Given the description of an element on the screen output the (x, y) to click on. 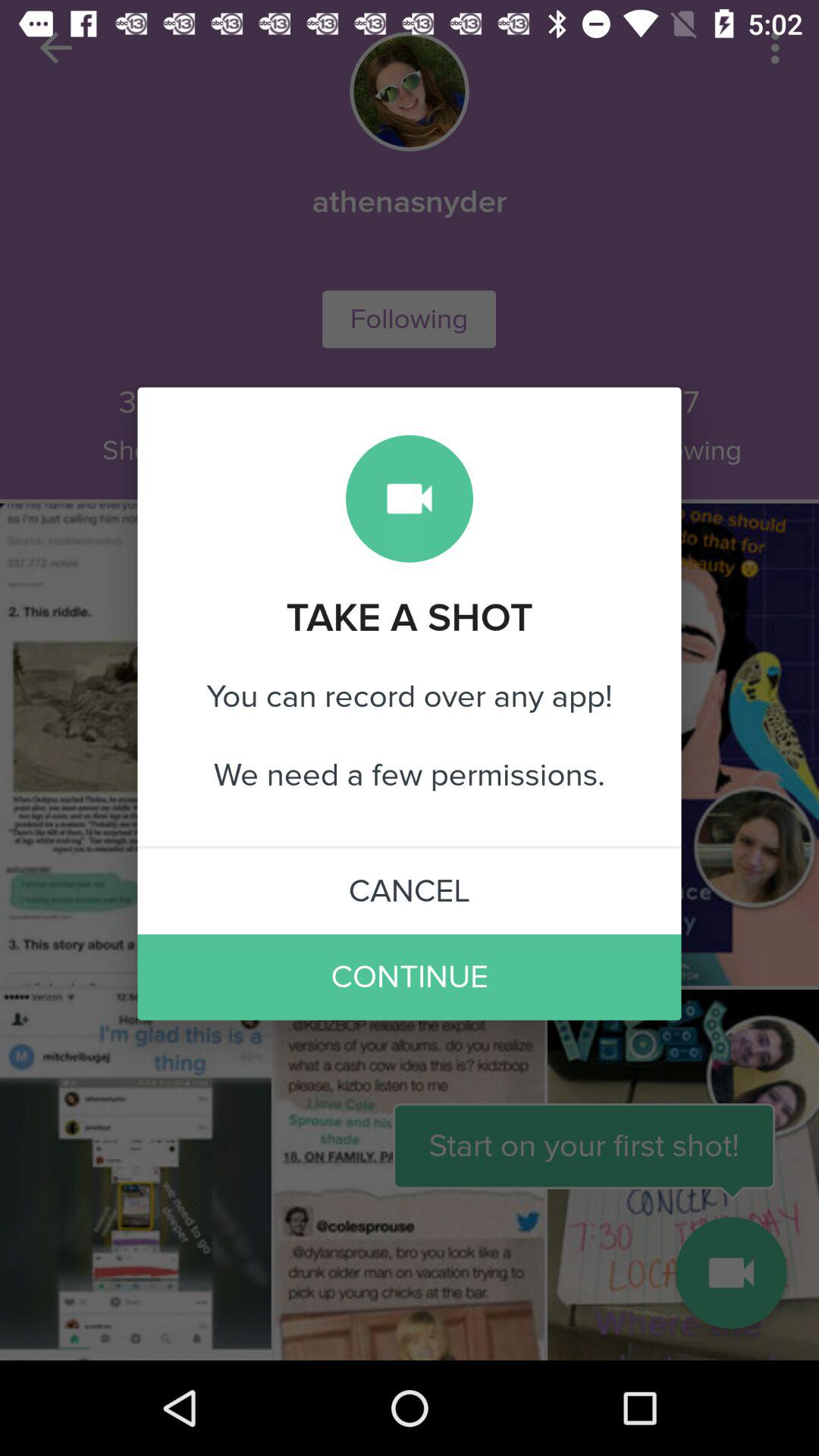
turn off the item below cancel (409, 977)
